Given the description of an element on the screen output the (x, y) to click on. 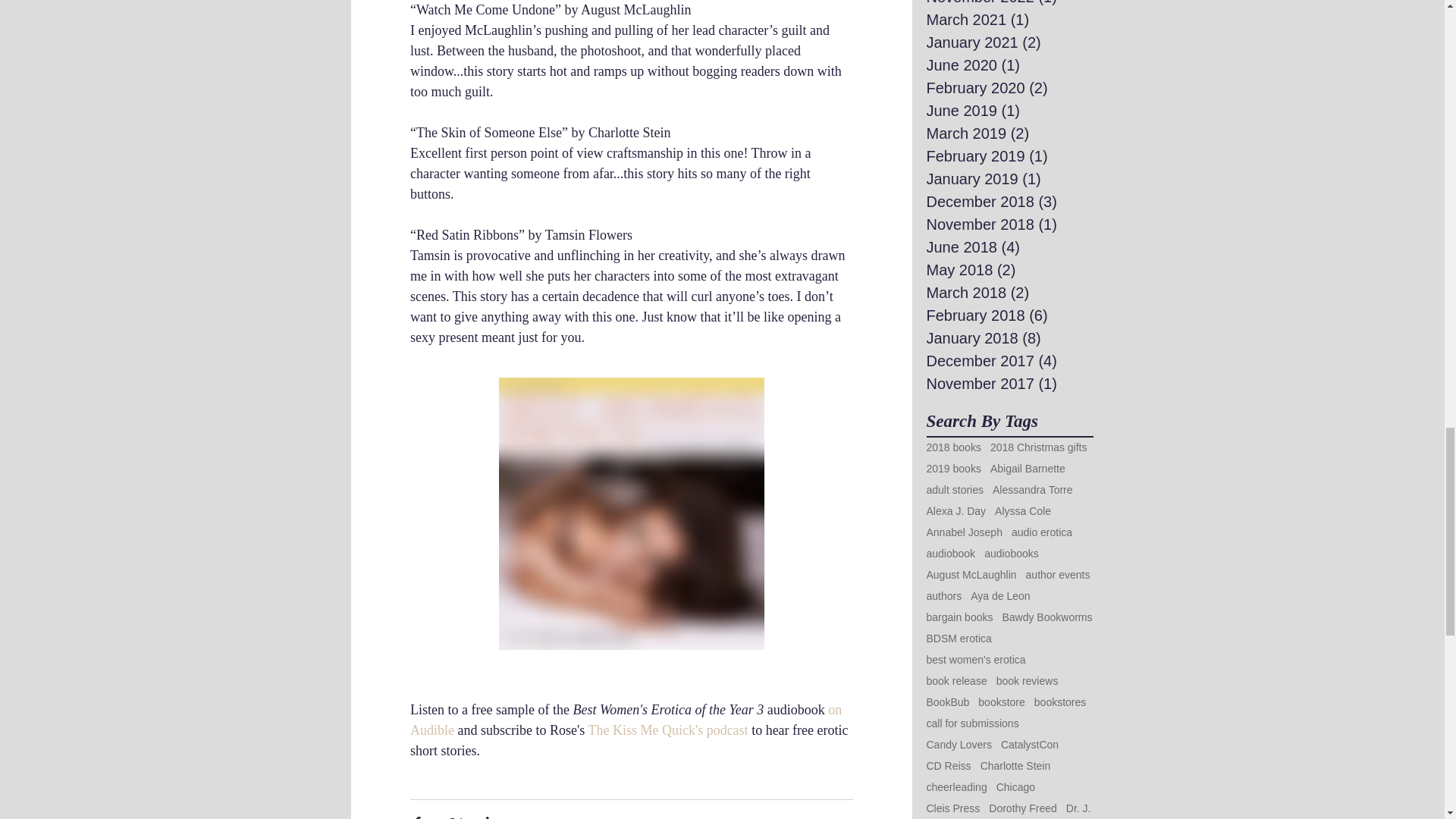
The Kiss Me Quick's podcast (668, 729)
on Audible (626, 719)
